Given the description of an element on the screen output the (x, y) to click on. 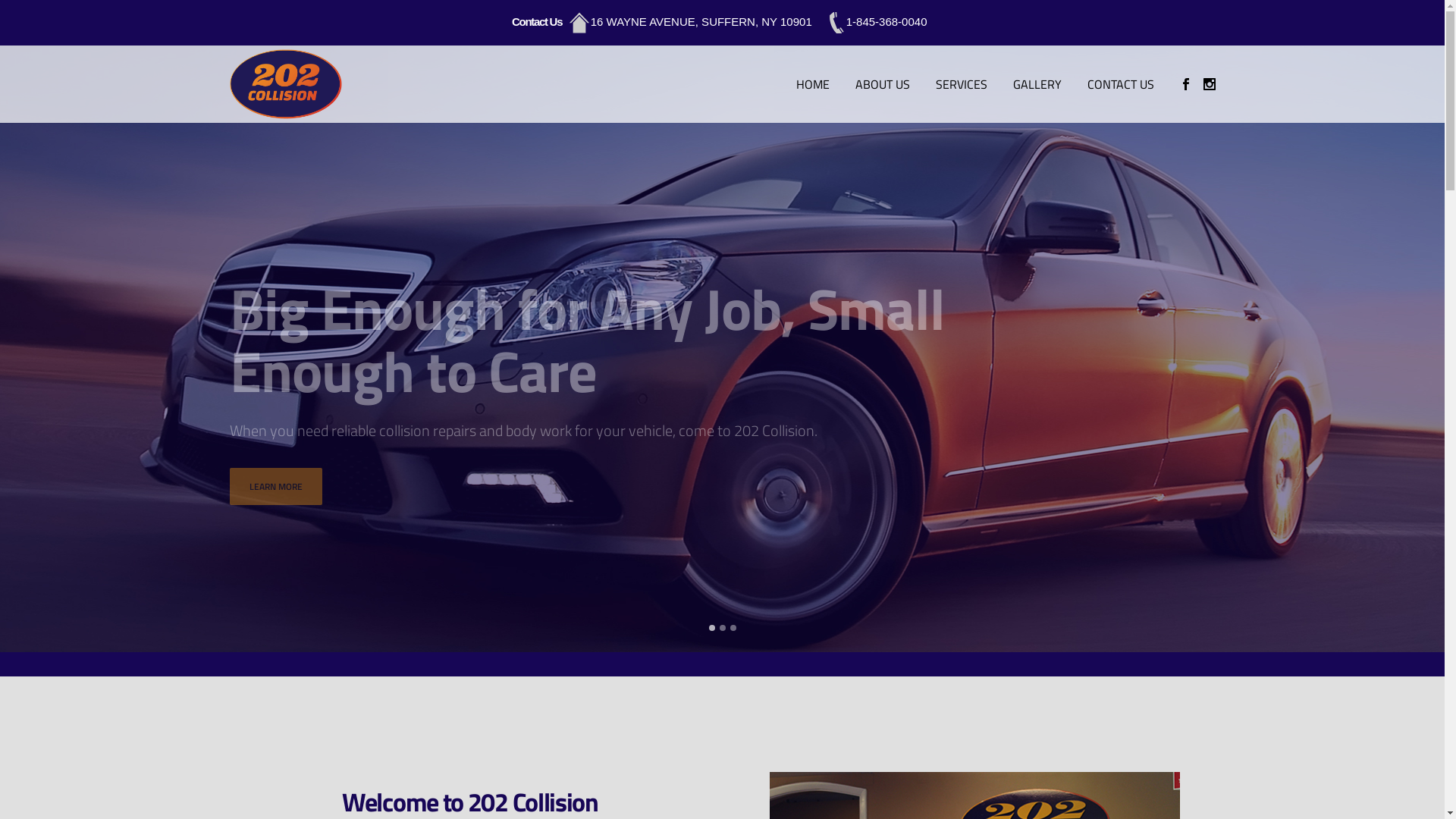
ABOUT US Element type: text (881, 83)
LEARN MORE Element type: text (275, 486)
16 WAYNE AVENUE, SUFFERN, NY 10901 Element type: text (689, 21)
SERVICES Element type: text (960, 83)
GALLERY Element type: text (1036, 83)
CONTACT US Element type: text (1119, 83)
1-845-368-0040 Element type: text (875, 21)
HOME Element type: text (811, 83)
